Given the description of an element on the screen output the (x, y) to click on. 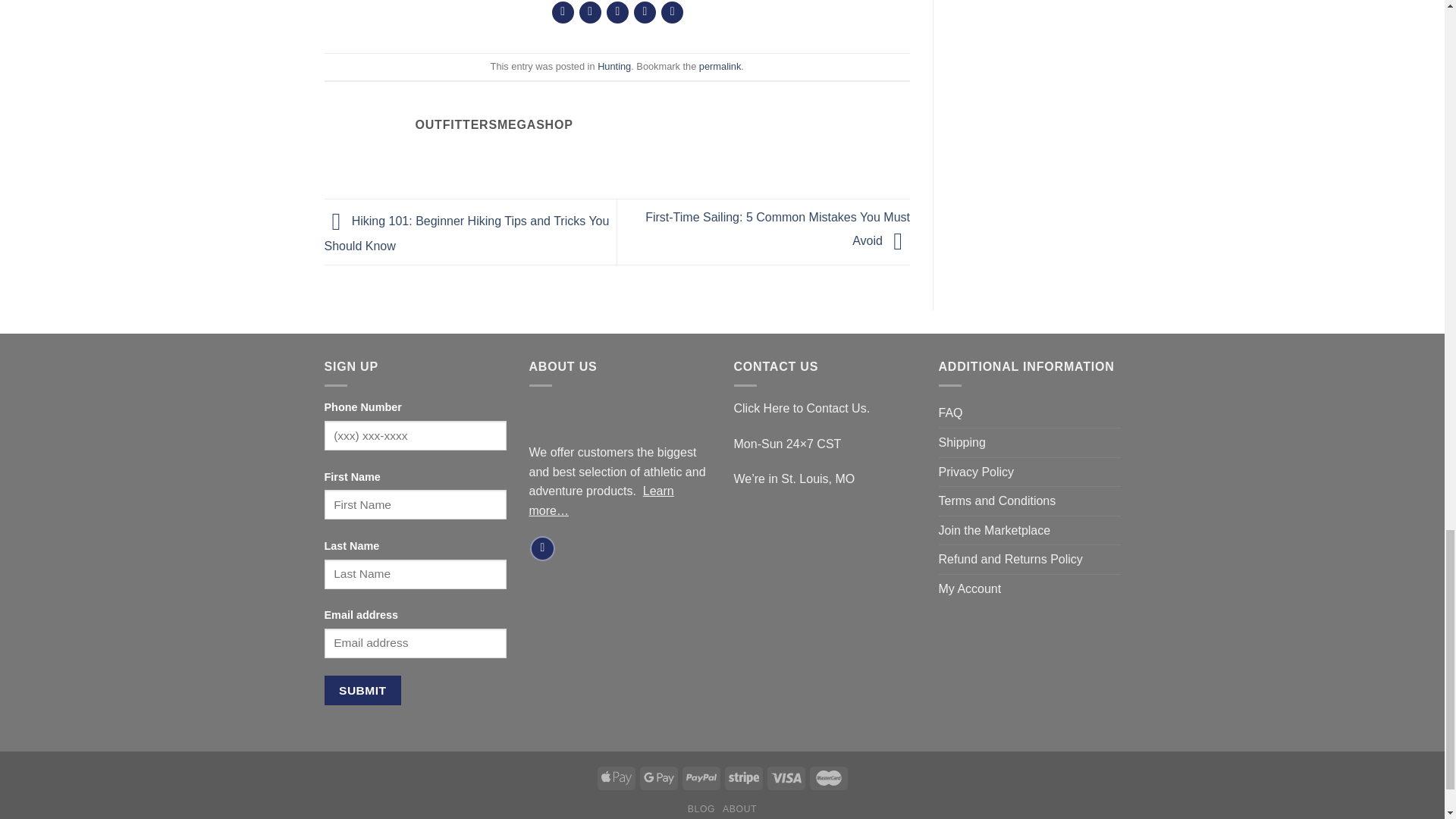
Email to a Friend (617, 12)
Share on Twitter (590, 12)
First-Time Sailing: 5 Common Mistakes You Must Avoid (777, 228)
Submit (362, 690)
Share on Facebook (562, 12)
Hunting (613, 66)
permalink (719, 66)
Pin on Pinterest (644, 12)
Hiking 101: Beginner Hiking Tips and Tricks You Should Know (467, 233)
